Given the description of an element on the screen output the (x, y) to click on. 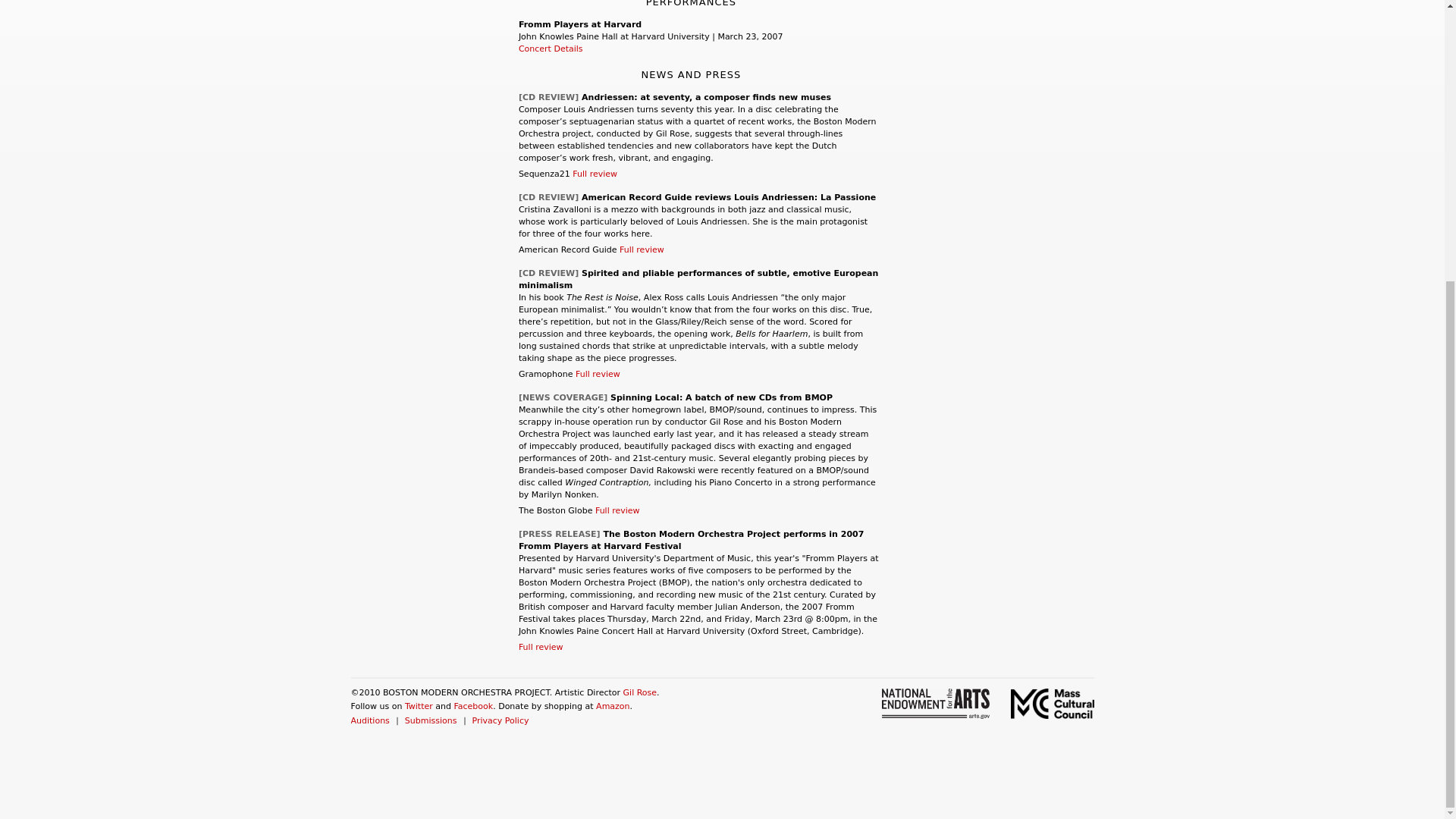
Full review (617, 510)
Full review (641, 249)
Full review (540, 646)
Full review (594, 173)
Spinning Local: A batch of new CDs from BMOP (721, 397)
Twitter (418, 706)
Concert Details (550, 49)
Full review (597, 374)
